Given the description of an element on the screen output the (x, y) to click on. 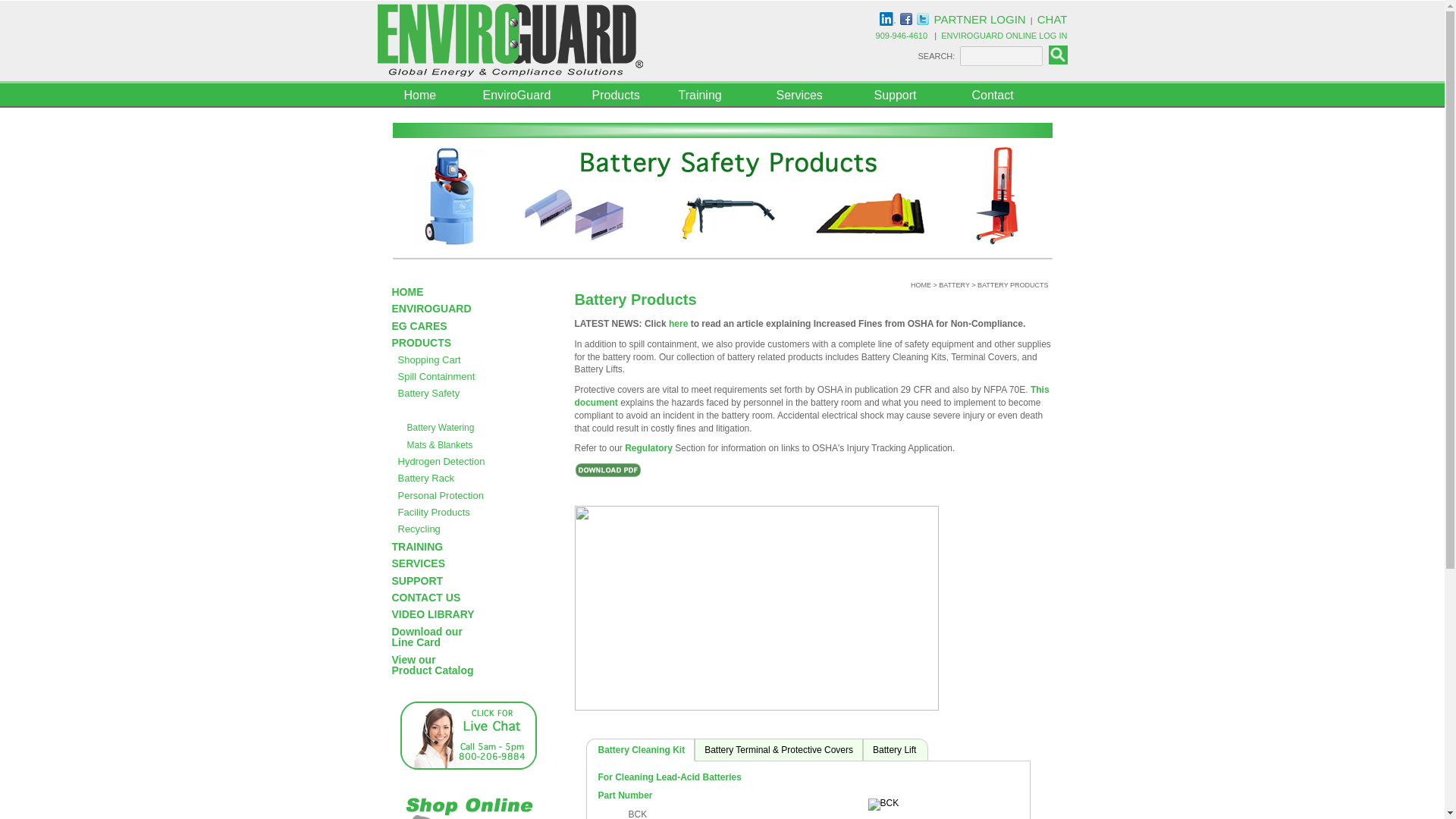
EnviroGuard (523, 94)
CHAT (1051, 19)
Home (426, 94)
Products (622, 94)
ENVIROGUARD ONLINE LOG IN (1003, 35)
PARTNER LOGIN (980, 19)
909-946-4610 (902, 35)
